Given the description of an element on the screen output the (x, y) to click on. 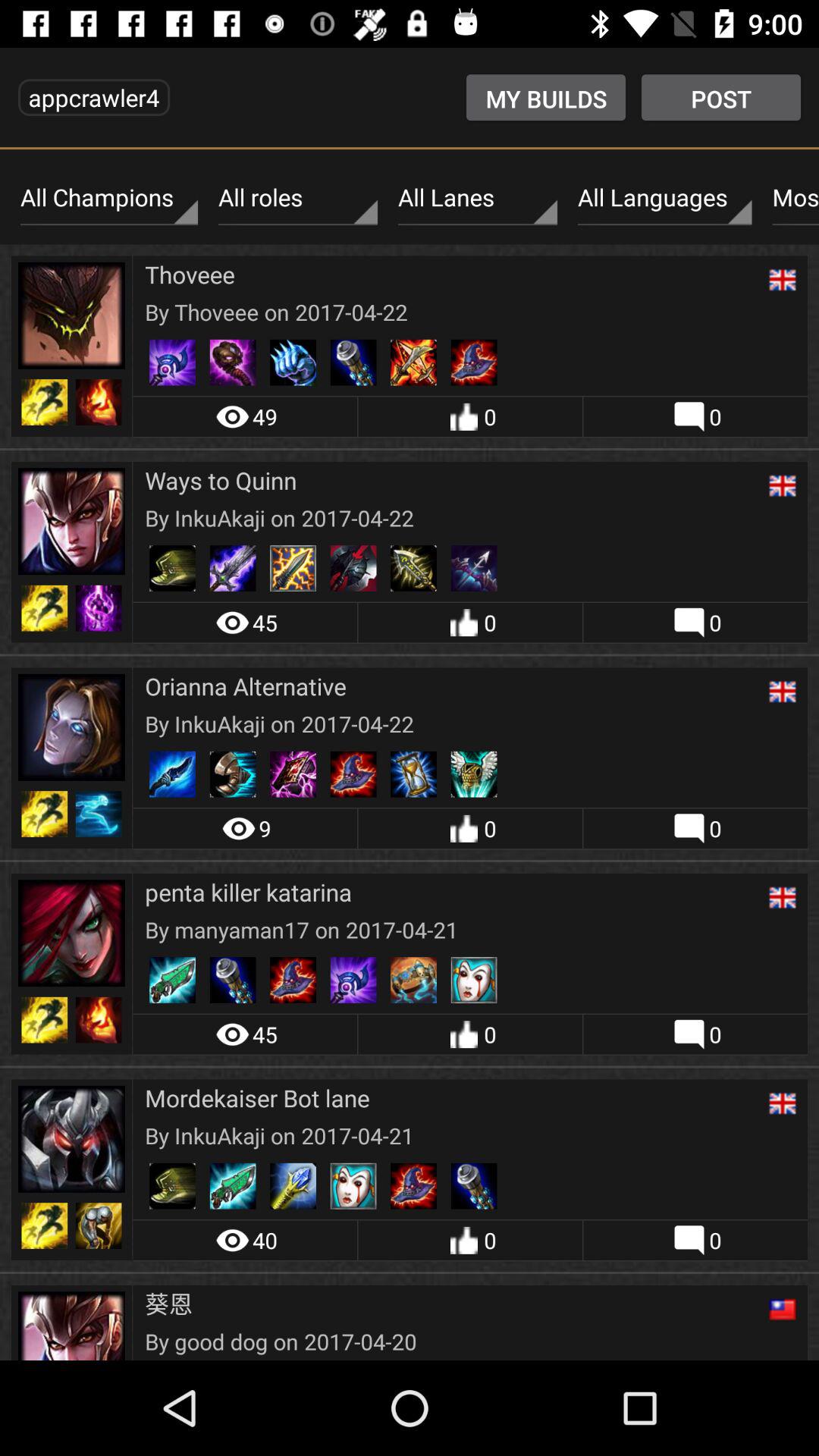
scroll to the all champions item (108, 198)
